Given the description of an element on the screen output the (x, y) to click on. 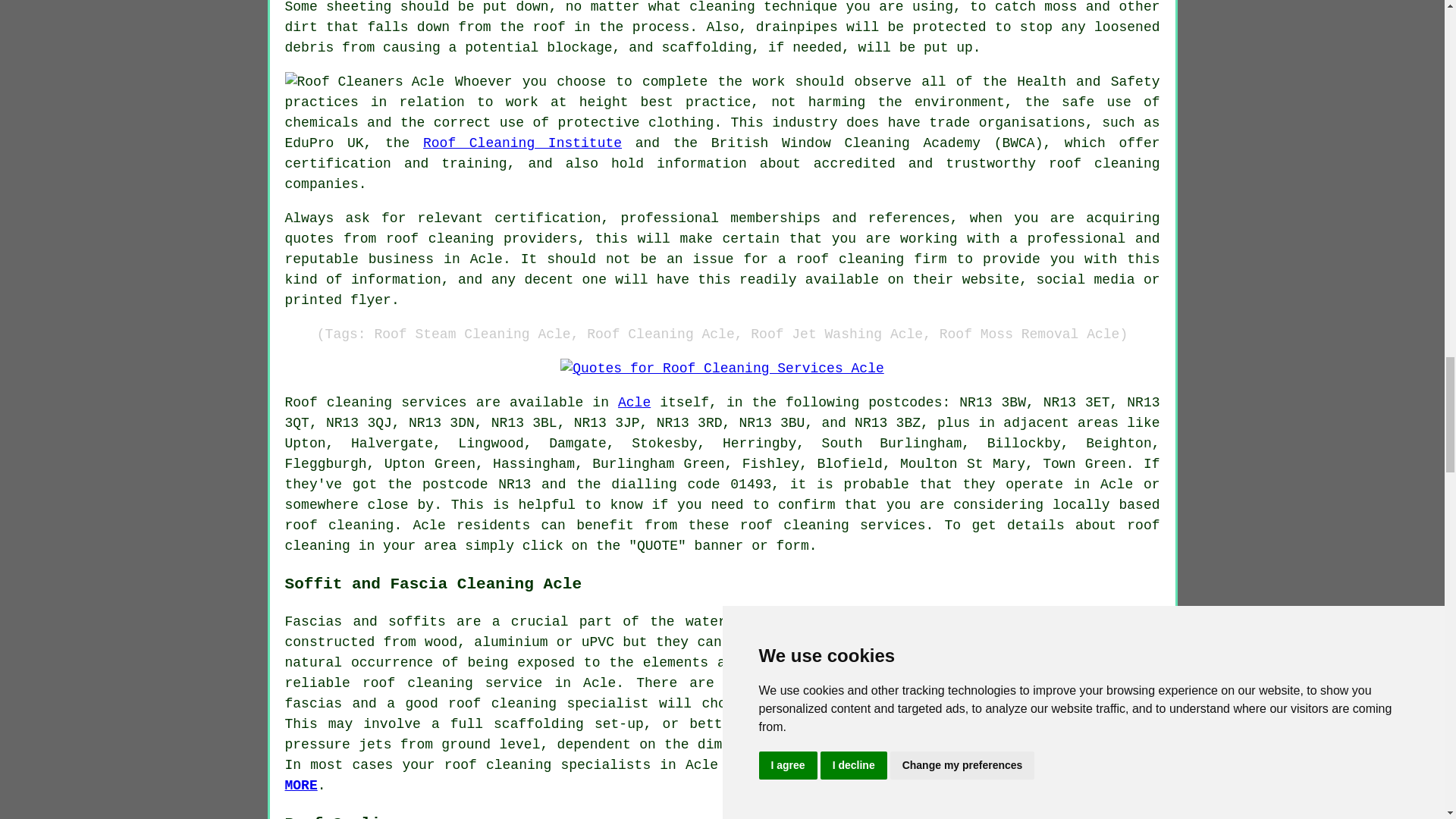
Fascia and Soffit Cleaning (722, 775)
roof cleaning (339, 525)
Quotes for Roof Cleaning Services Acle (721, 368)
Roof cleaning (339, 402)
Roof Cleaners Acle (364, 82)
